Given the description of an element on the screen output the (x, y) to click on. 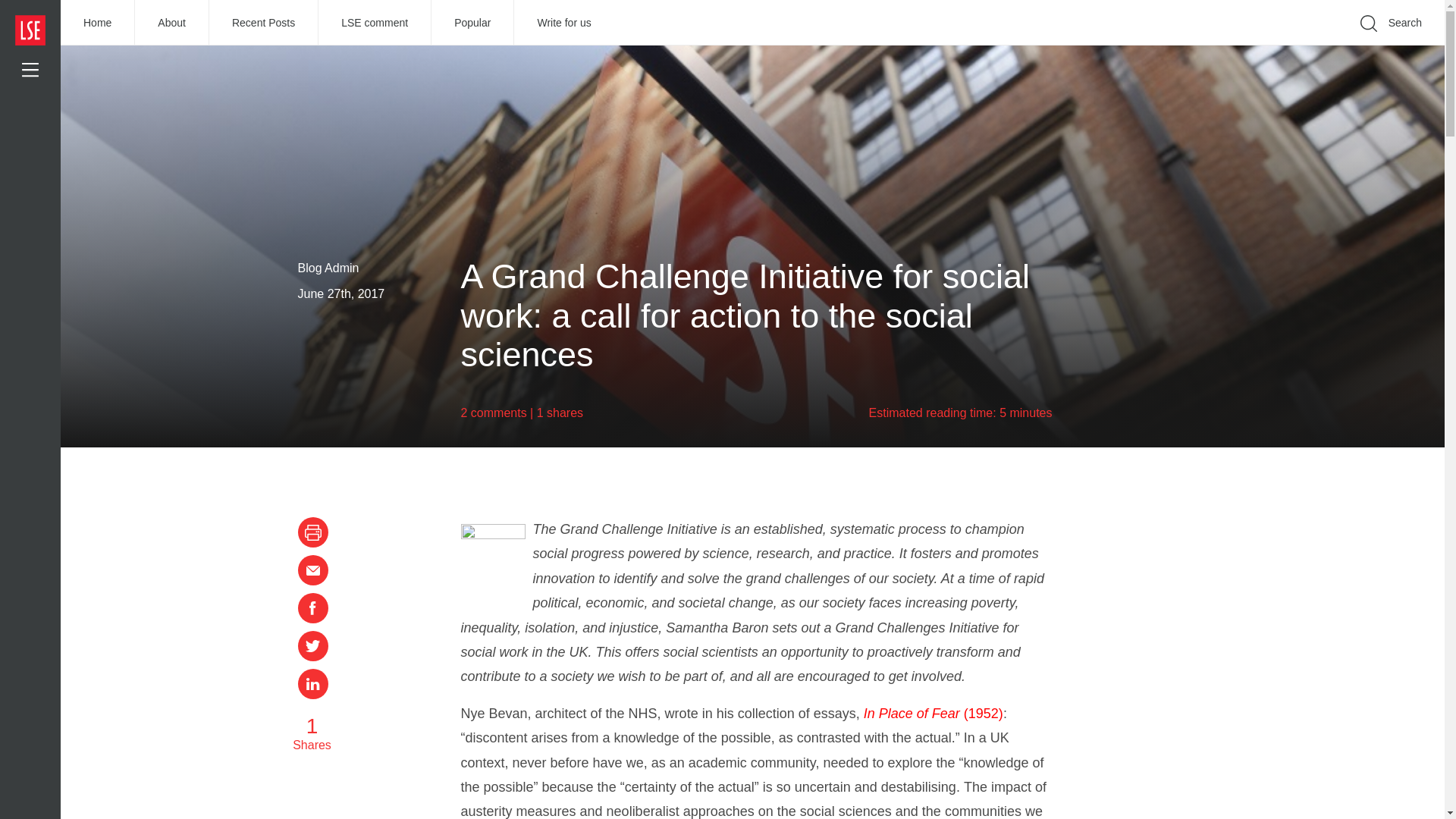
About (172, 22)
Popular (471, 22)
Go (1190, 44)
Write for us (562, 22)
LSE comment (374, 22)
Recent Posts (263, 22)
Home (98, 22)
2 comments (494, 412)
